Given the description of an element on the screen output the (x, y) to click on. 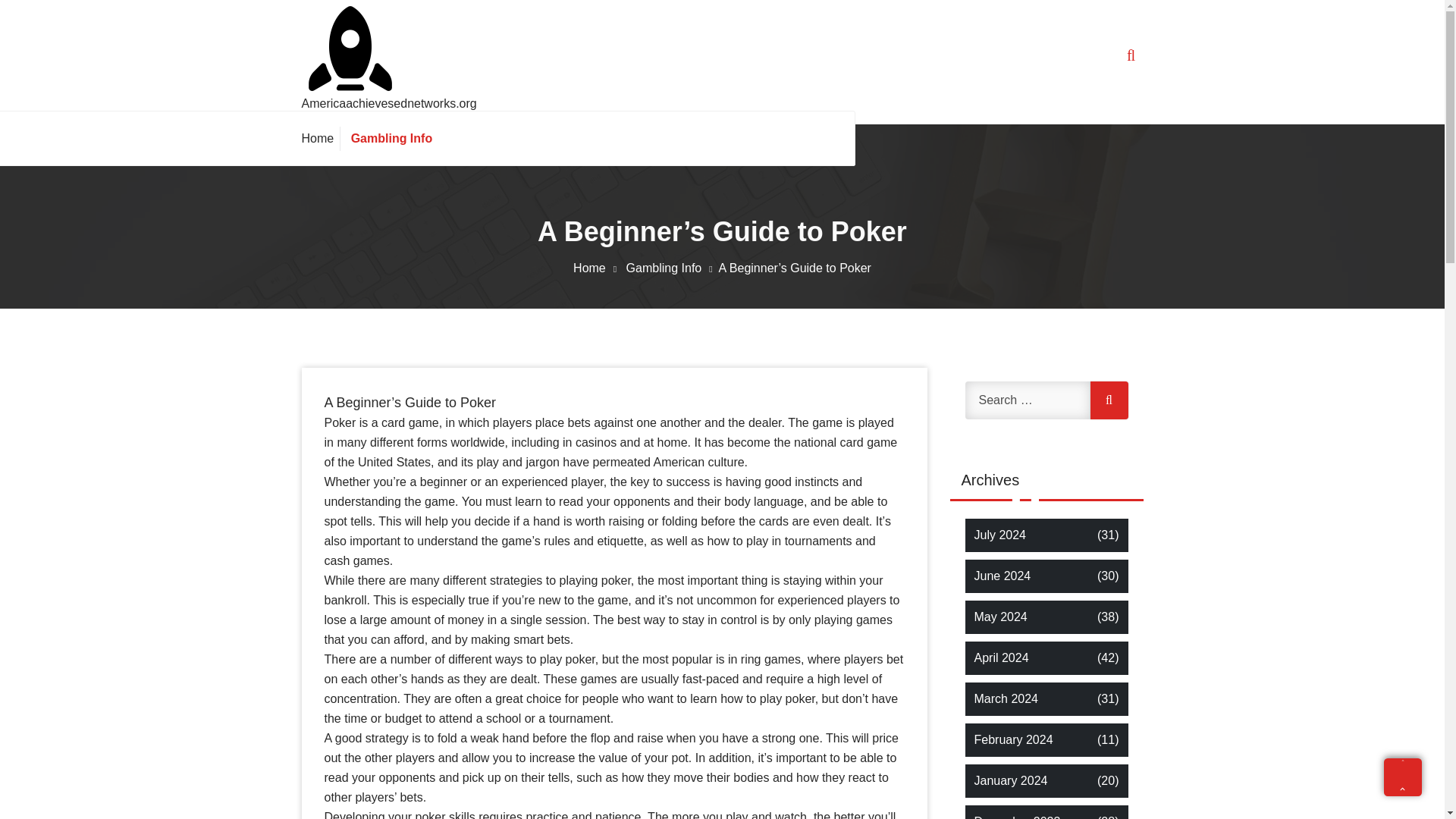
Gambling Info (672, 267)
February 2024 (1013, 740)
May 2024 (1000, 617)
Home (598, 267)
Gambling Info (388, 138)
Home (320, 138)
April 2024 (1000, 658)
March 2024 (1006, 699)
December 2023 (1016, 816)
June 2024 (1002, 576)
Gambling Info (388, 138)
Home (320, 138)
July 2024 (1000, 535)
January 2024 (1010, 781)
